Given the description of an element on the screen output the (x, y) to click on. 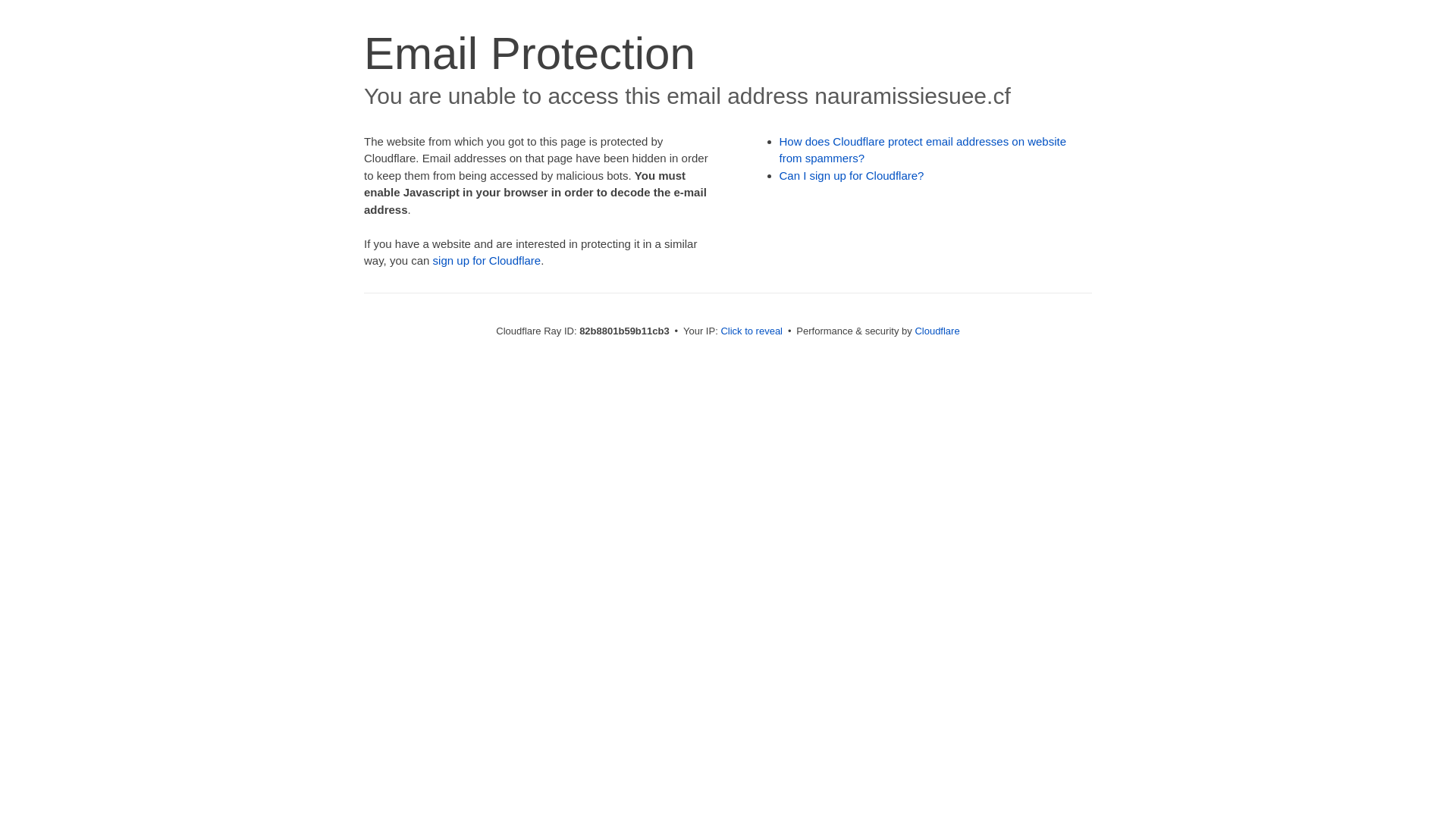
Can I sign up for Cloudflare? Element type: text (851, 175)
Cloudflare Element type: text (936, 330)
Click to reveal Element type: text (751, 330)
sign up for Cloudflare Element type: text (487, 260)
